Given the description of an element on the screen output the (x, y) to click on. 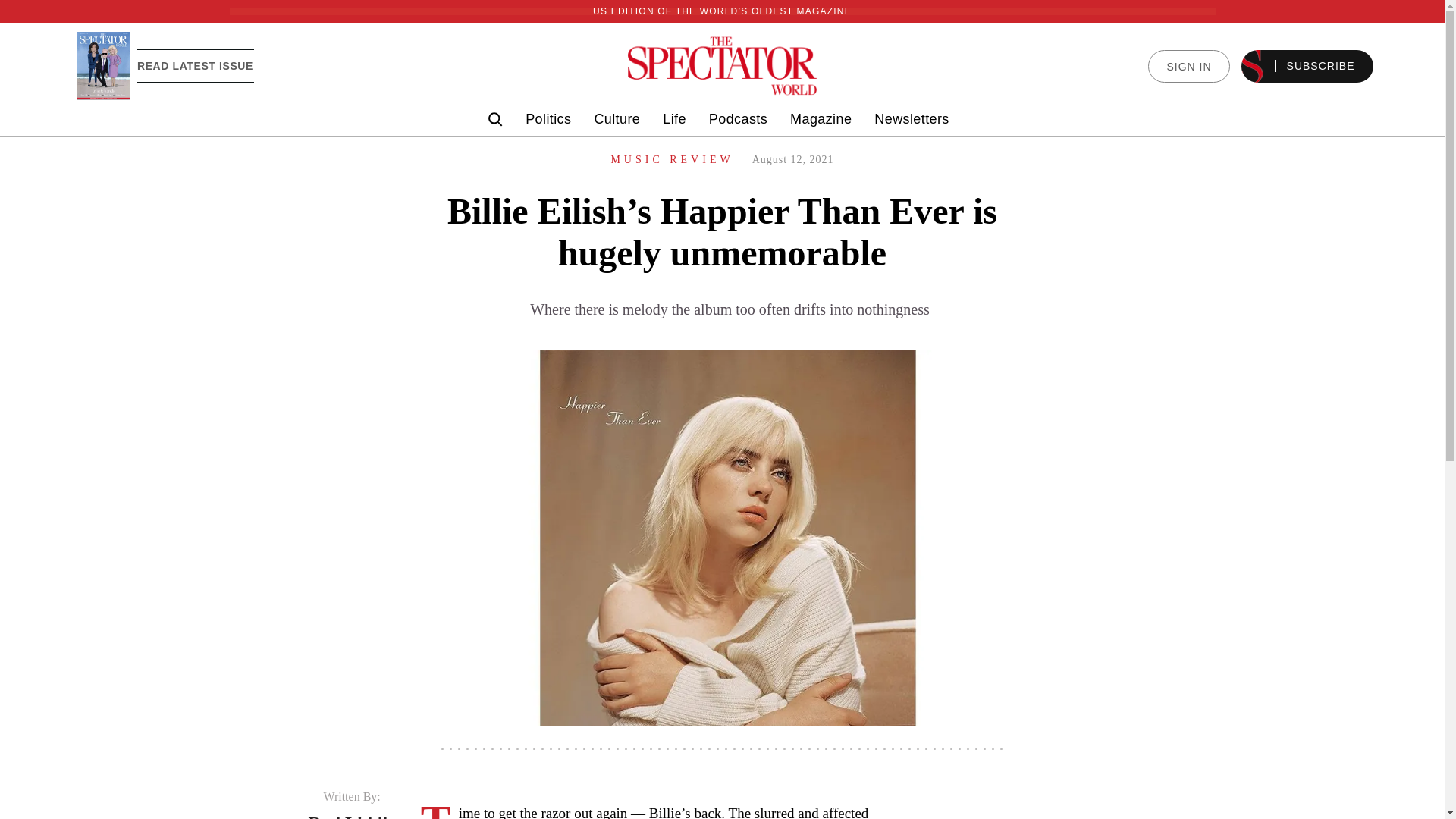
Podcasts (737, 119)
Newsletters (911, 119)
Life (673, 119)
Culture (616, 119)
Rod Liddle (350, 816)
SIGN IN (1188, 65)
SUBSCRIBE (1307, 65)
READ LATEST ISSUE (194, 65)
MUSIC REVIEW (671, 159)
Politics (547, 119)
Magazine (820, 119)
